Given the description of an element on the screen output the (x, y) to click on. 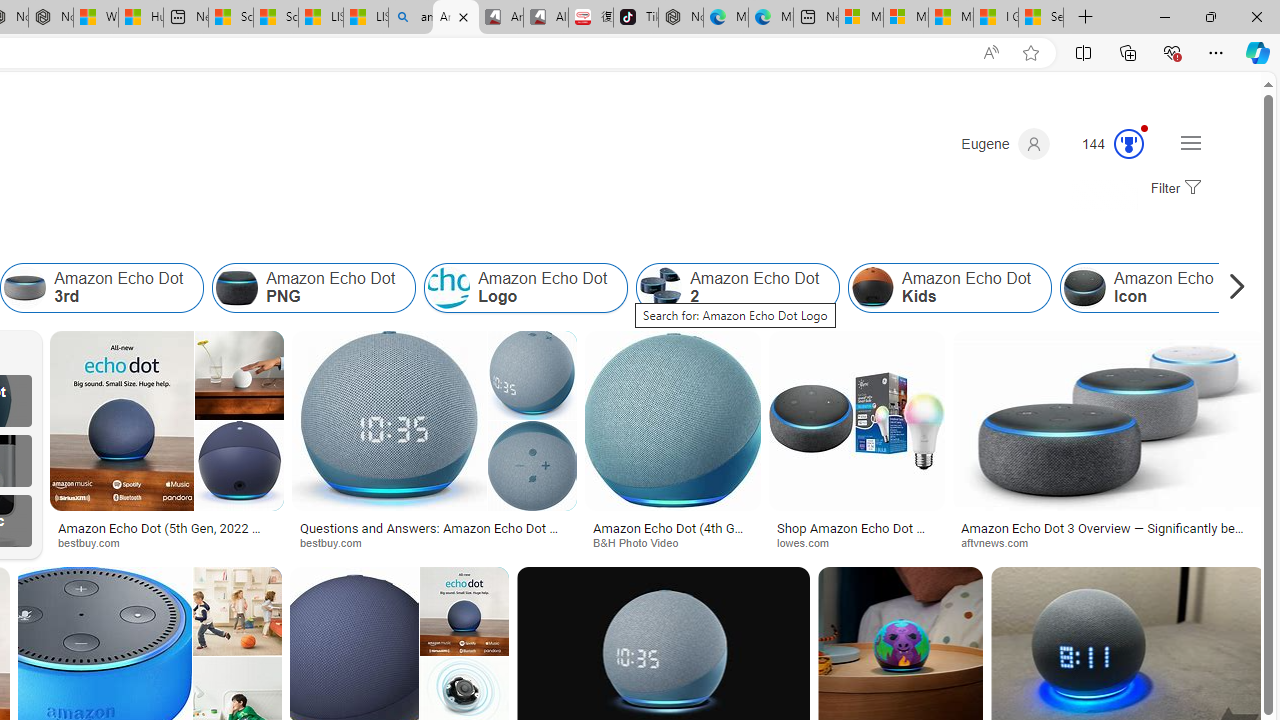
Amazon Echo Dot Logo (526, 287)
B&H Photo Video (642, 541)
Amazon Echo Dot 2 (738, 287)
lowes.com (809, 541)
Nordace - Best Sellers (680, 17)
TikTok (635, 17)
Amazon Echo Dot Colors - Search Images (455, 17)
I Gained 20 Pounds of Muscle in 30 Days! | Watch (995, 17)
